Given the description of an element on the screen output the (x, y) to click on. 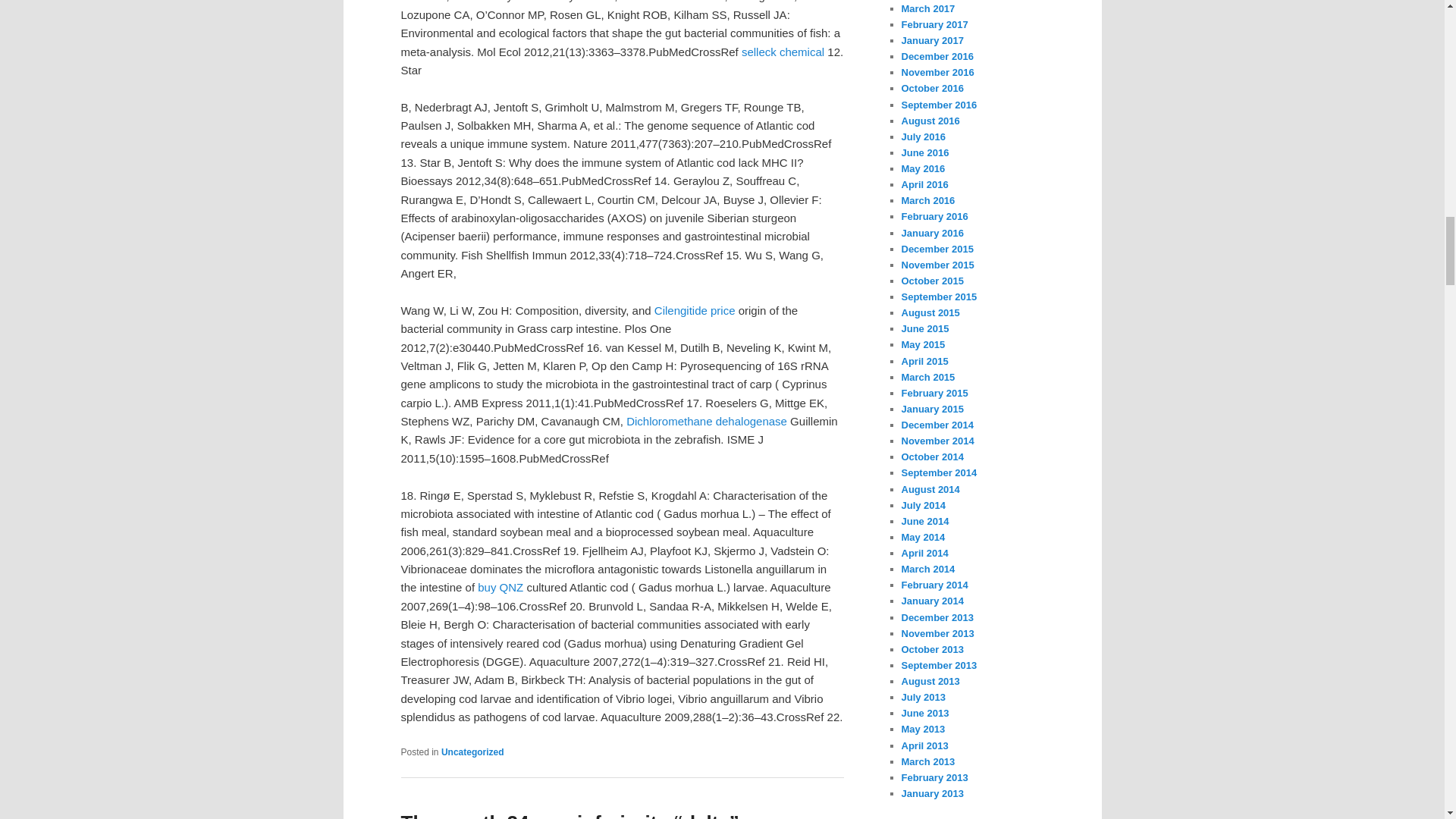
selleck chemical (782, 51)
Uncategorized (472, 751)
buy QNZ (499, 586)
Dichloromethane dehalogenase (706, 420)
Cilengitide price (694, 309)
View all posts in Uncategorized (472, 751)
